Given the description of an element on the screen output the (x, y) to click on. 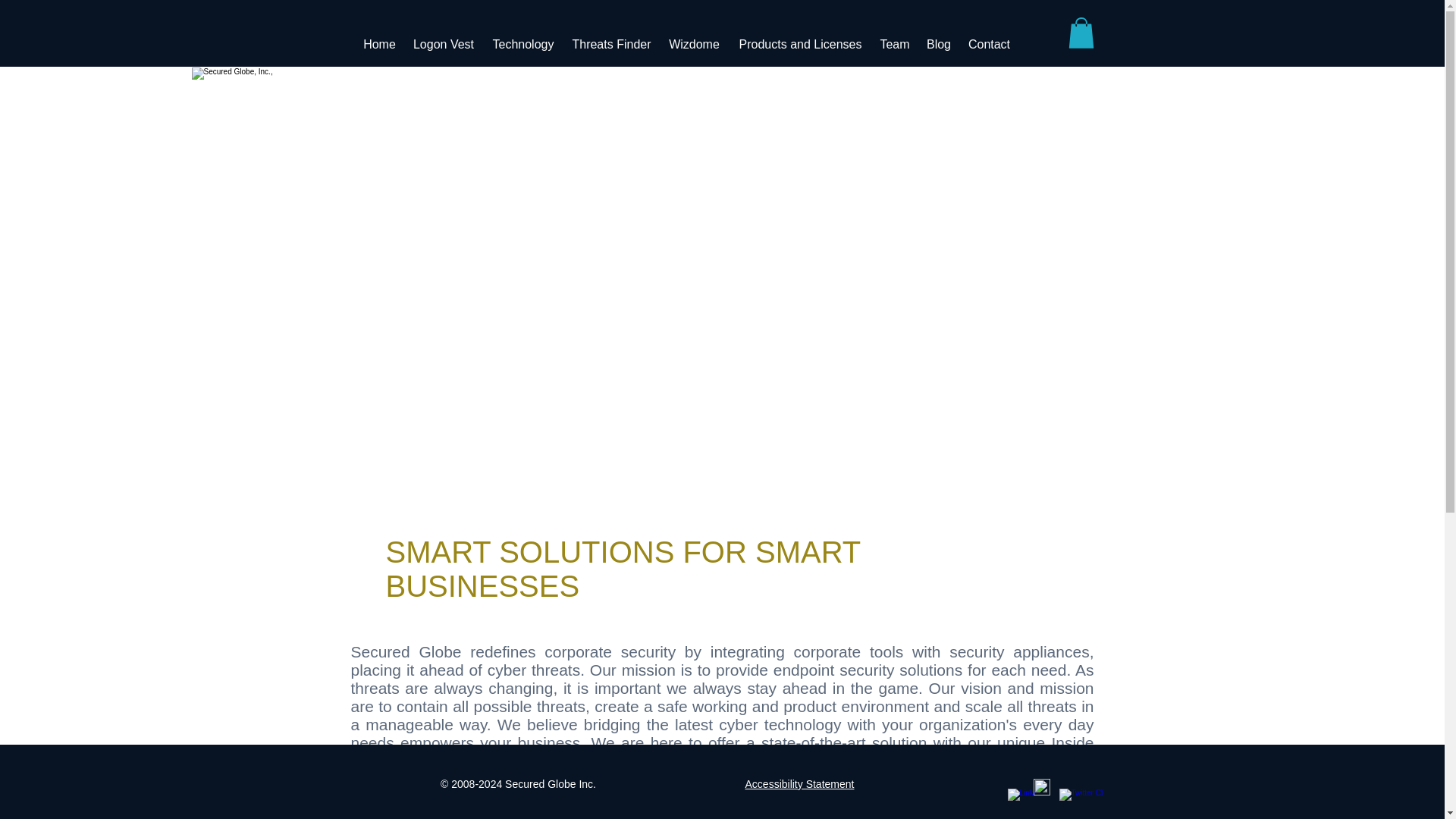
Threats Finder (611, 44)
Team (895, 44)
Logon Vest (443, 44)
Accessibility Statement (799, 784)
Products and Licenses (800, 44)
Technology (522, 44)
Wizdome (694, 44)
Home (379, 44)
Contact (989, 44)
Blog (938, 44)
